Given the description of an element on the screen output the (x, y) to click on. 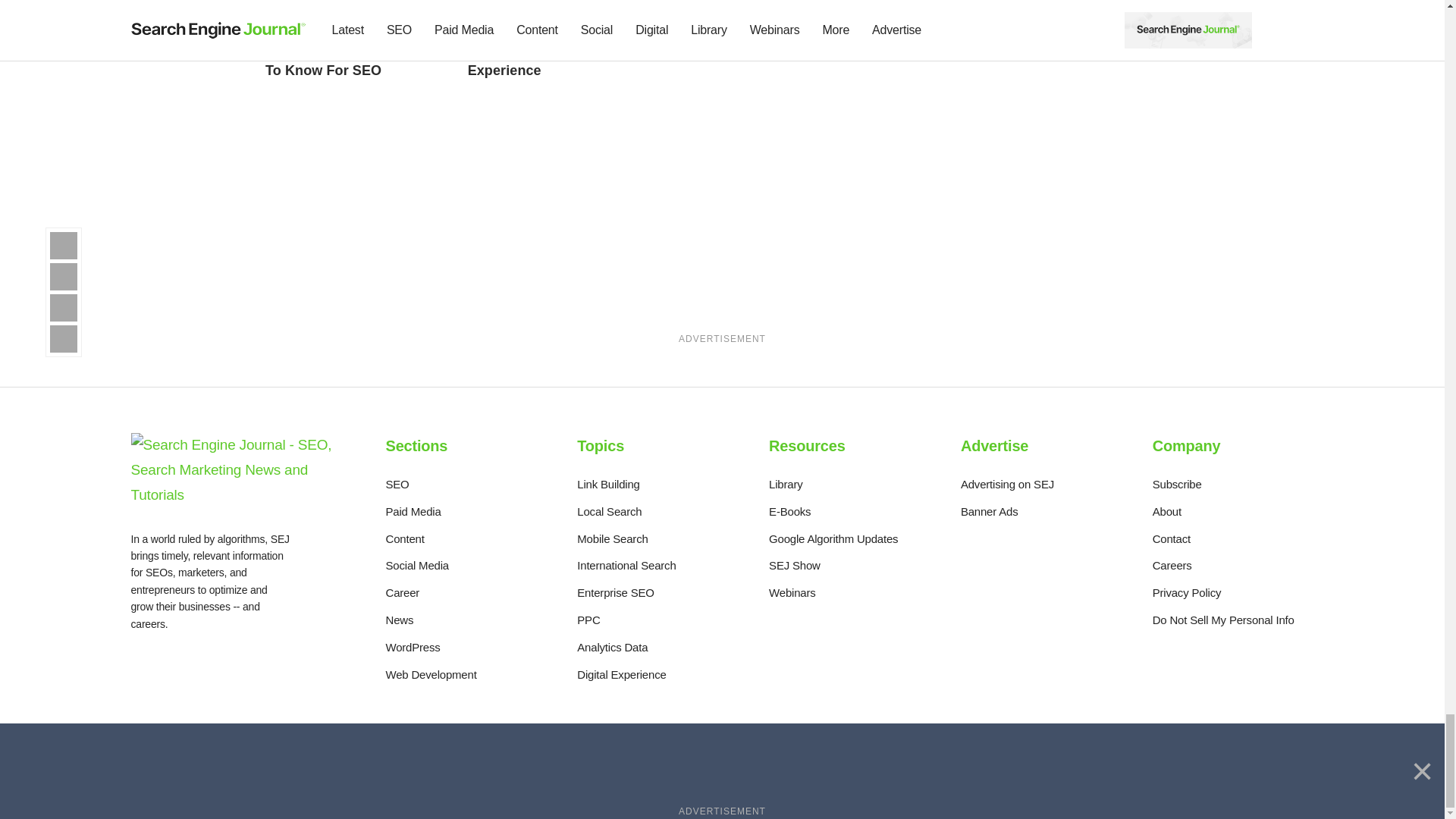
Read the Article (553, 53)
Read the Article (755, 11)
Read the Article (751, 46)
Read the Article (351, 11)
Read the Article (553, 11)
Read the Article (349, 53)
